Given the description of an element on the screen output the (x, y) to click on. 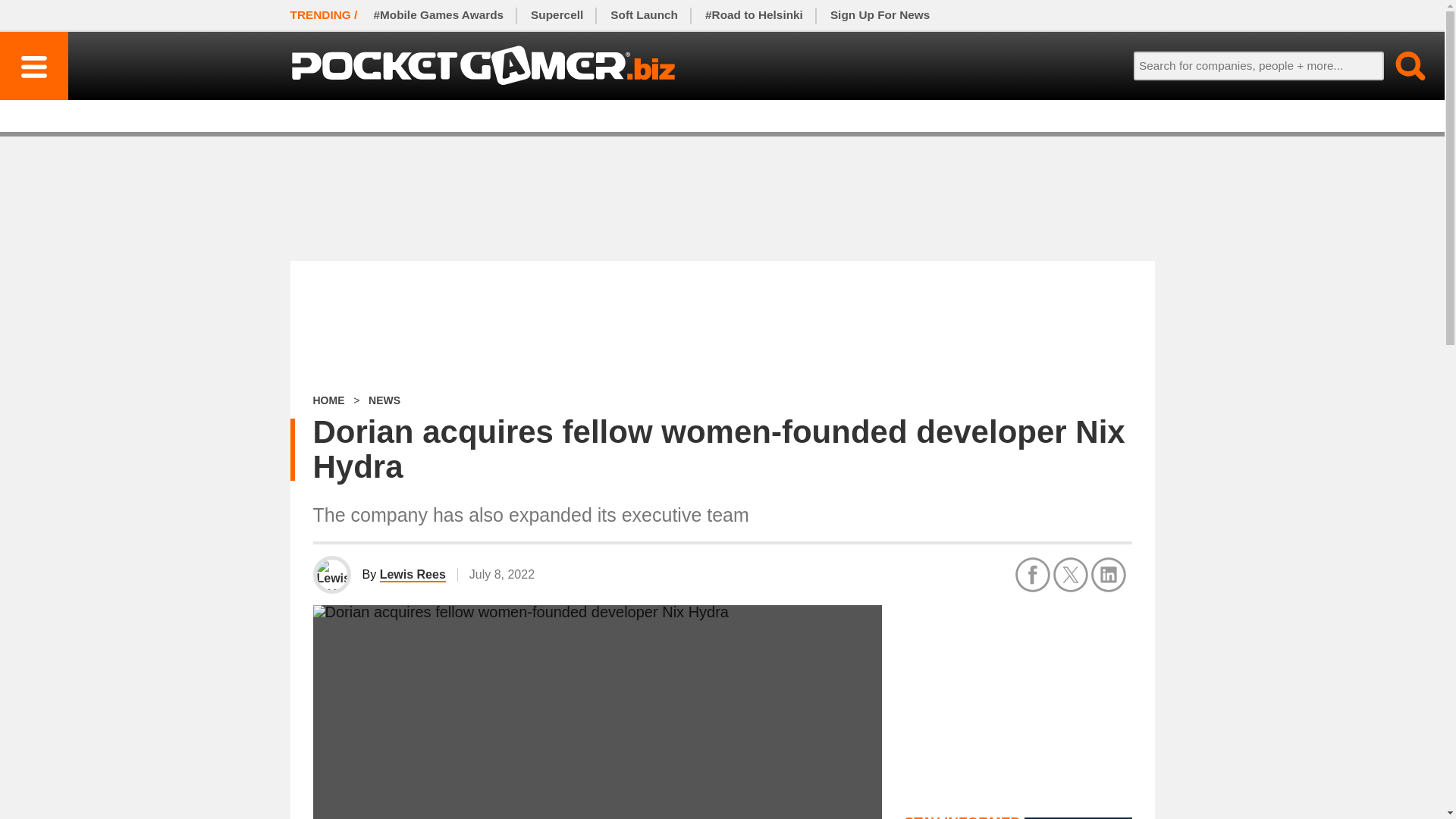
HOME (328, 400)
Go (1402, 65)
Soft Launch (643, 15)
Sign Up For News (879, 15)
Go (1402, 65)
Lewis Rees (412, 575)
NEWS (384, 400)
Supercell (556, 15)
